Given the description of an element on the screen output the (x, y) to click on. 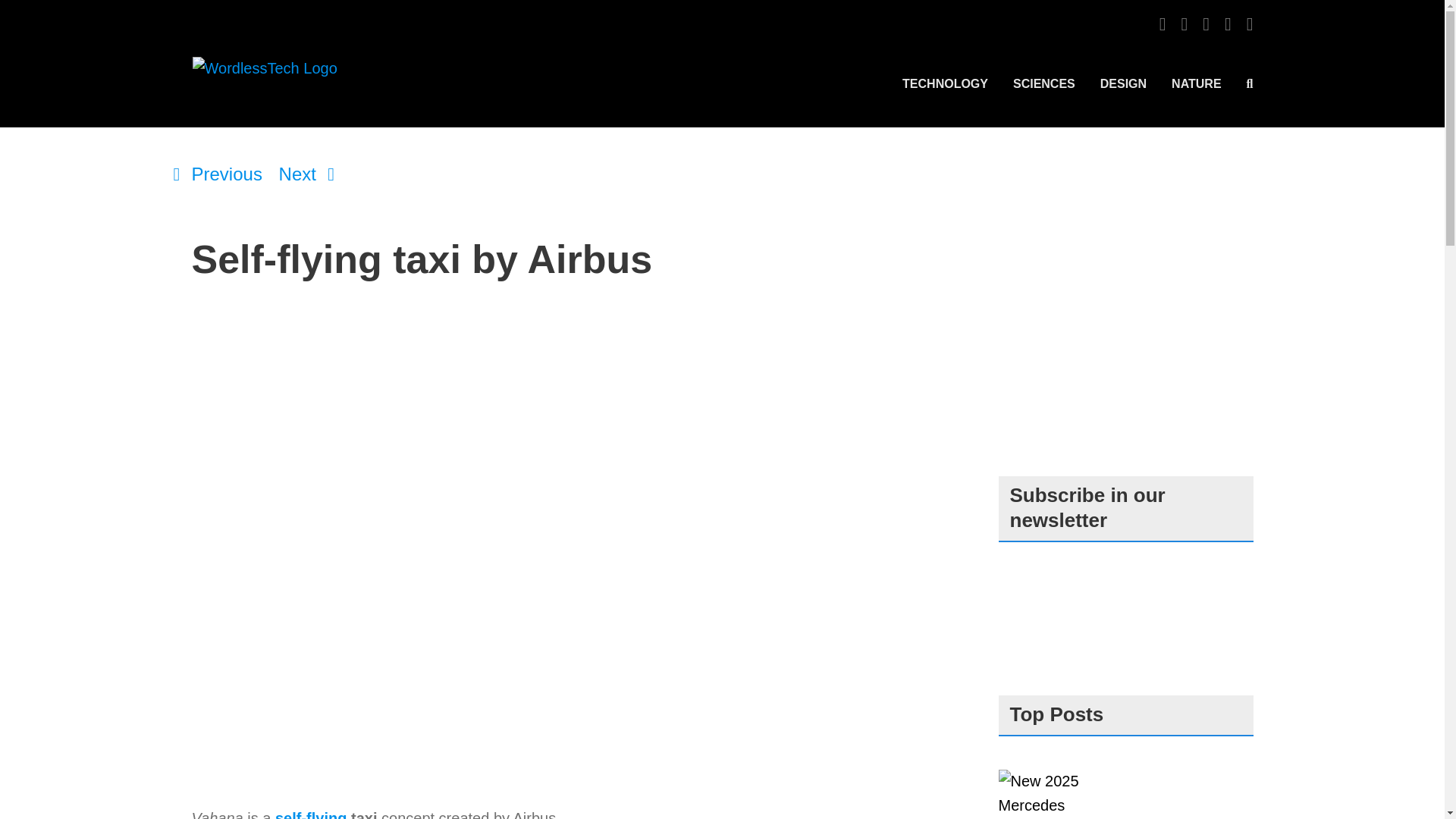
TECHNOLOGY (945, 83)
NATURE (1196, 83)
SCIENCES (1044, 83)
